Given the description of an element on the screen output the (x, y) to click on. 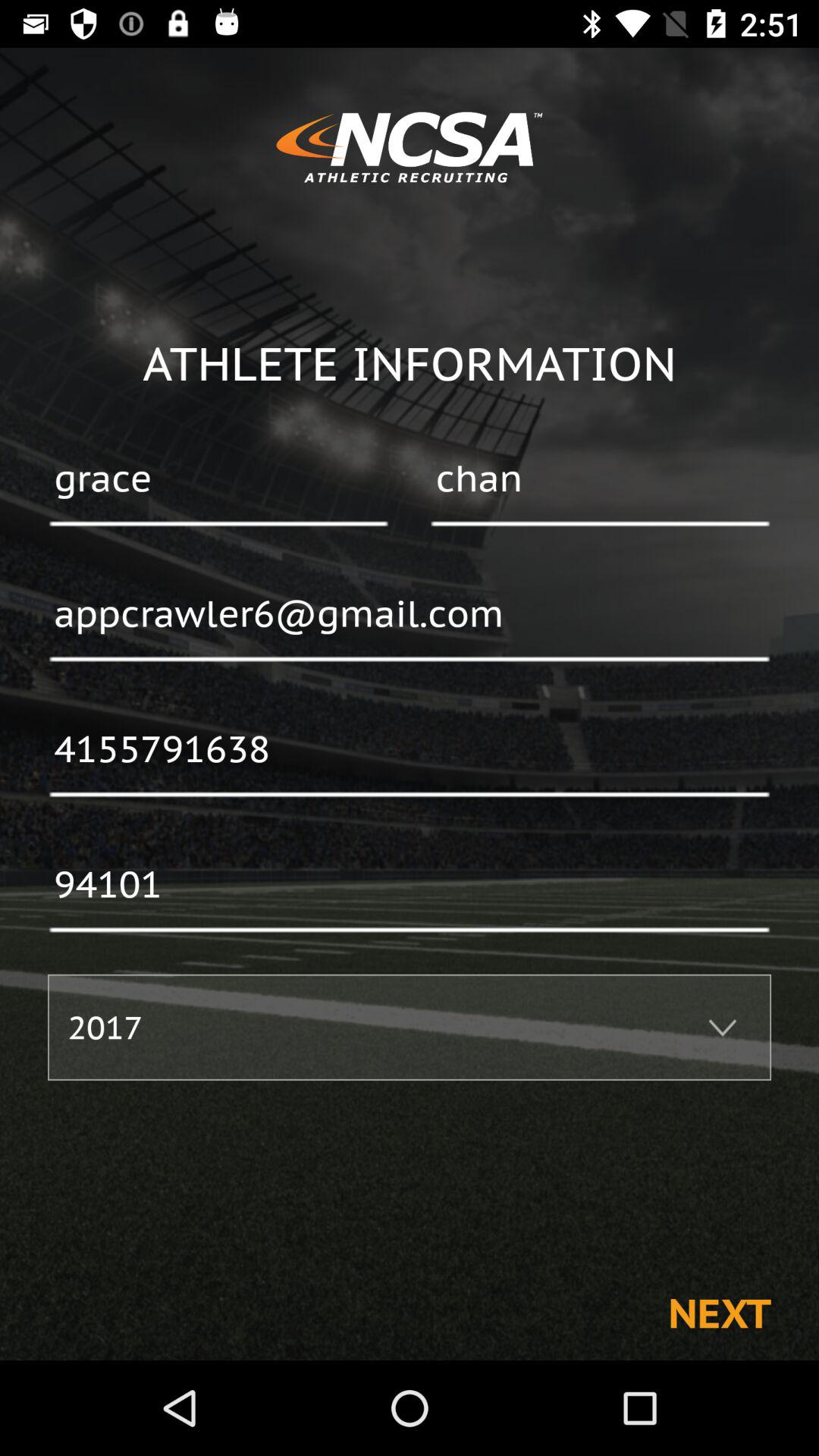
open icon above 2017 (409, 885)
